Given the description of an element on the screen output the (x, y) to click on. 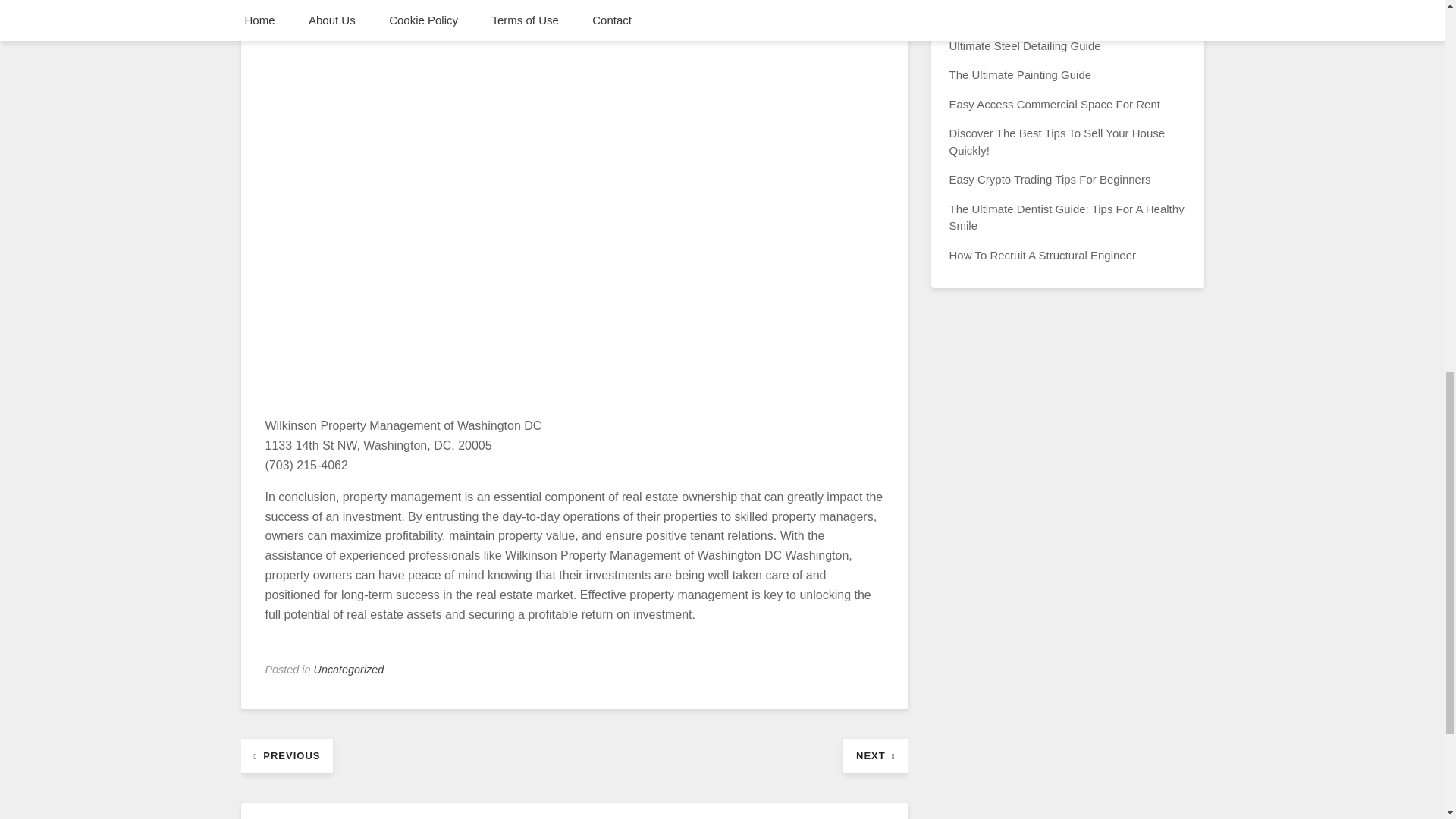
How To Recruit A Structural Engineer (1043, 254)
NEXT (875, 754)
Discover The Best Tips To Sell Your House Quickly! (1057, 141)
Ultimate Steel Detailing Guide (1024, 45)
Easy Access Commercial Space For Rent (1054, 103)
Easy Crypto Trading Tips For Beginners (1050, 178)
PREVIOUS (287, 754)
How To Paint Like A Pro: Step-By-Step Guide (1063, 15)
Uncategorized (349, 669)
The Ultimate Painting Guide (1020, 74)
